Given the description of an element on the screen output the (x, y) to click on. 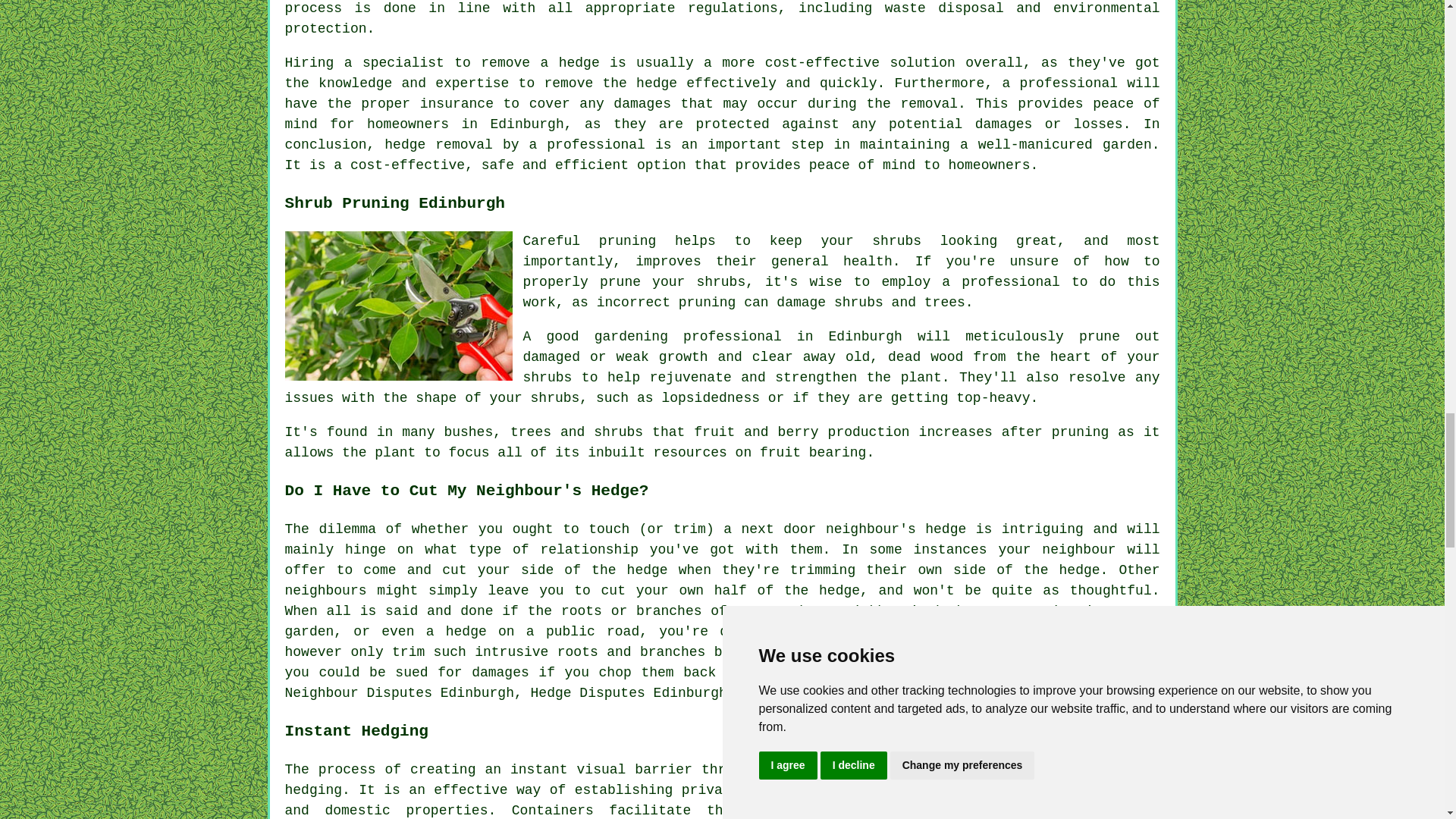
instant hedging (908, 810)
